Given the description of an element on the screen output the (x, y) to click on. 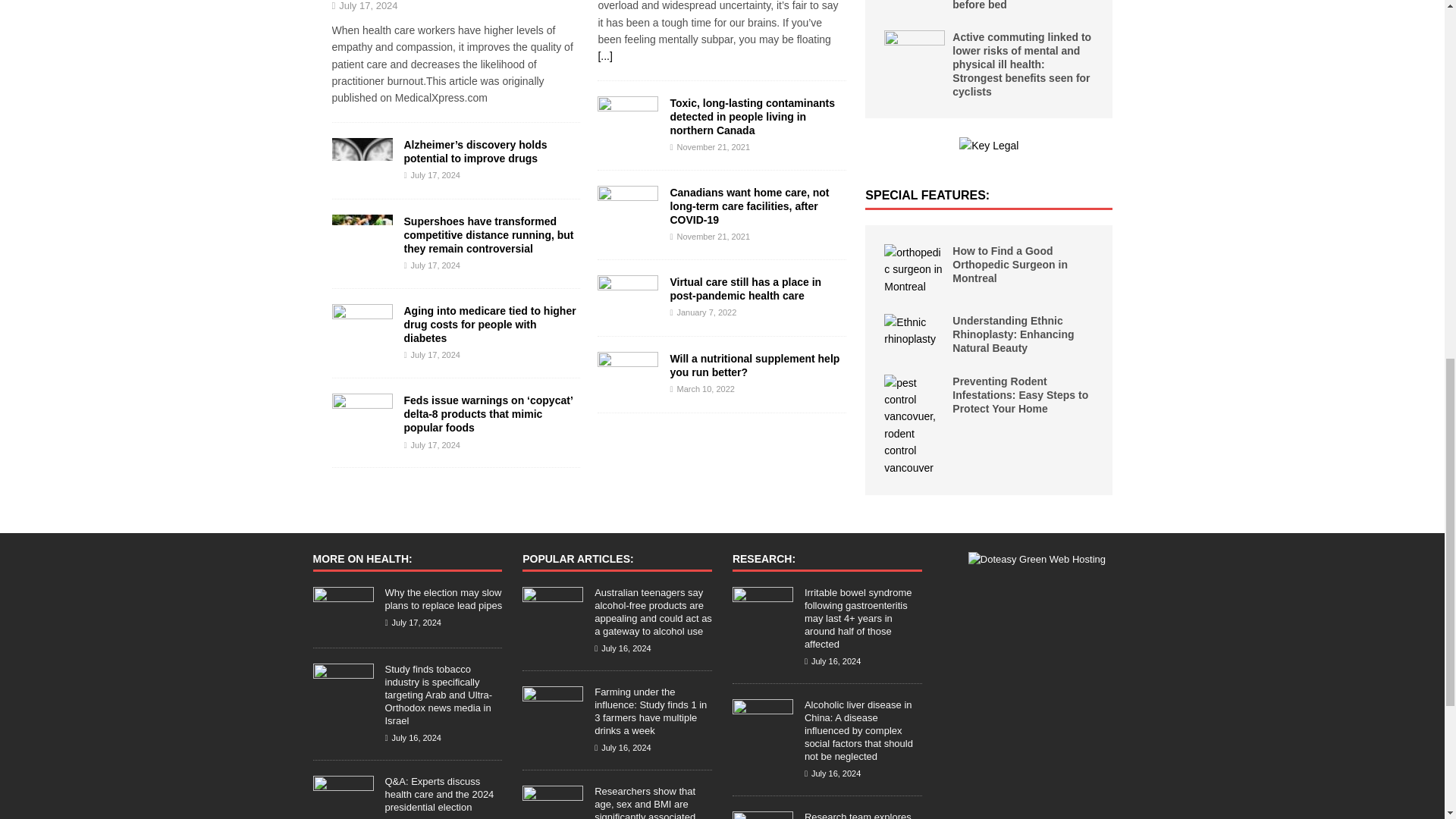
July 17, 2024 (368, 5)
July 17, 2024 (435, 354)
July 17, 2024 (435, 174)
July 17, 2024 (435, 265)
July 17, 2024 (435, 444)
